Given the description of an element on the screen output the (x, y) to click on. 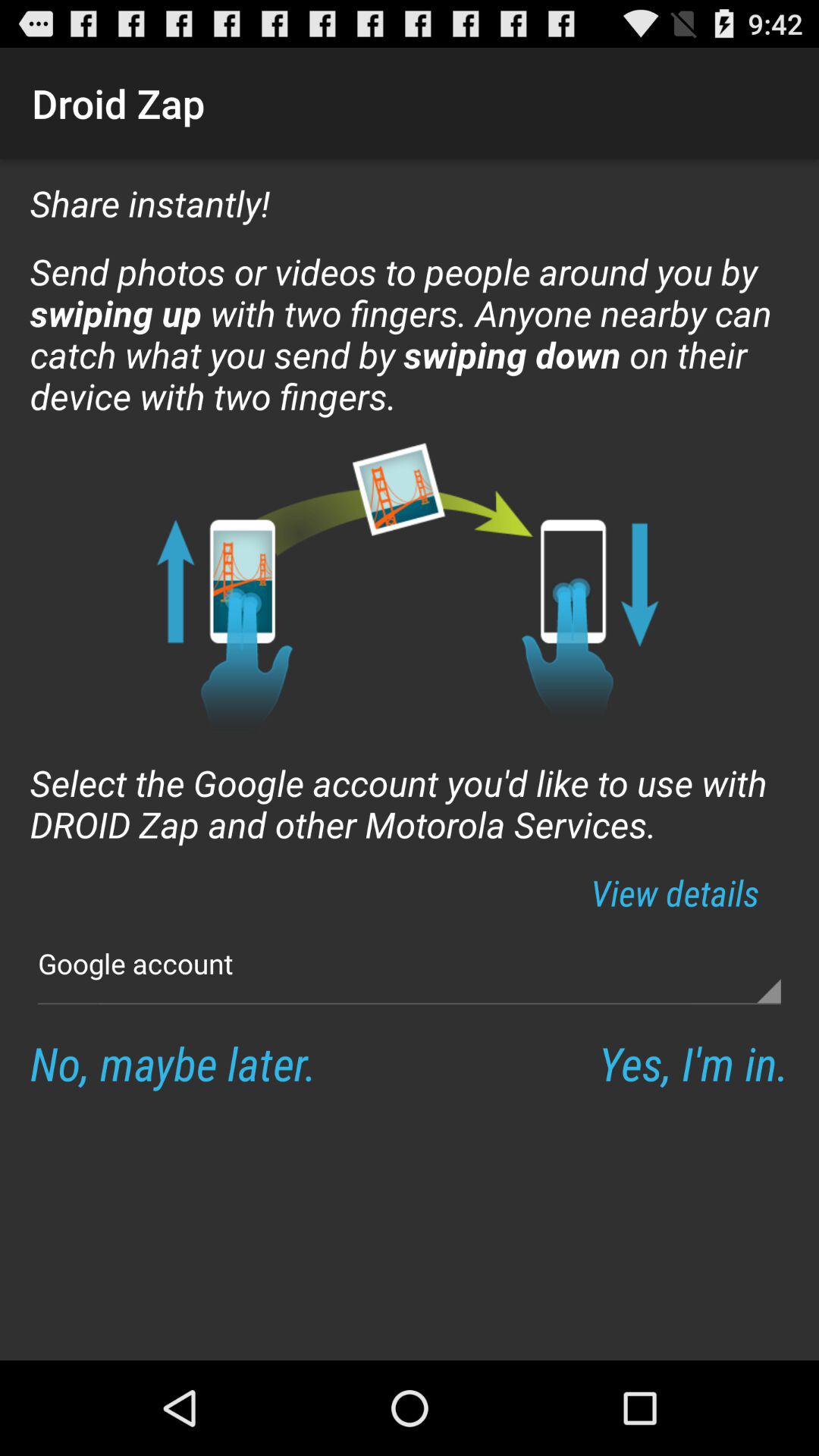
tap the icon next to yes i m (173, 1062)
